Given the description of an element on the screen output the (x, y) to click on. 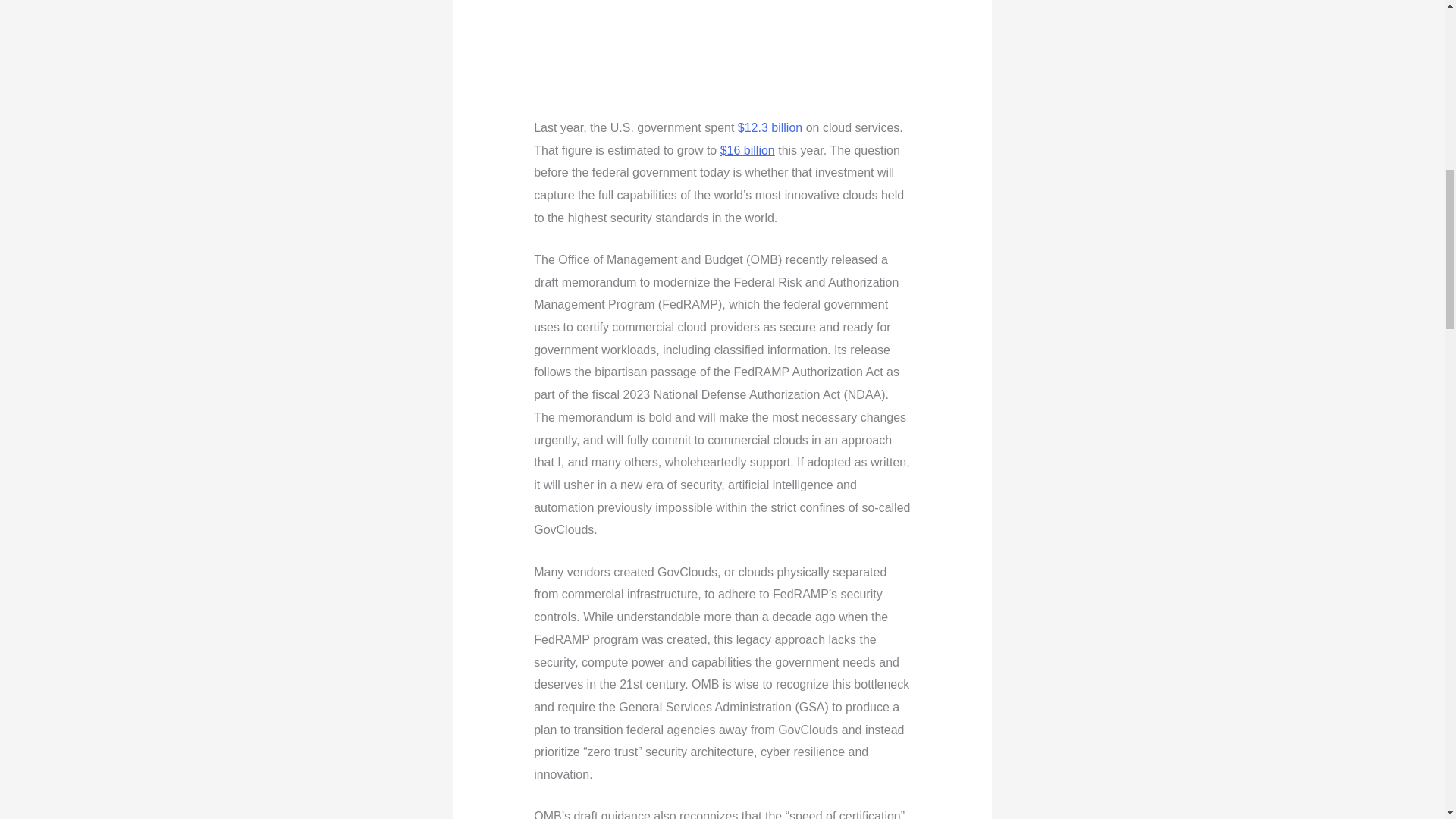
Audio Article (722, 48)
